Given the description of an element on the screen output the (x, y) to click on. 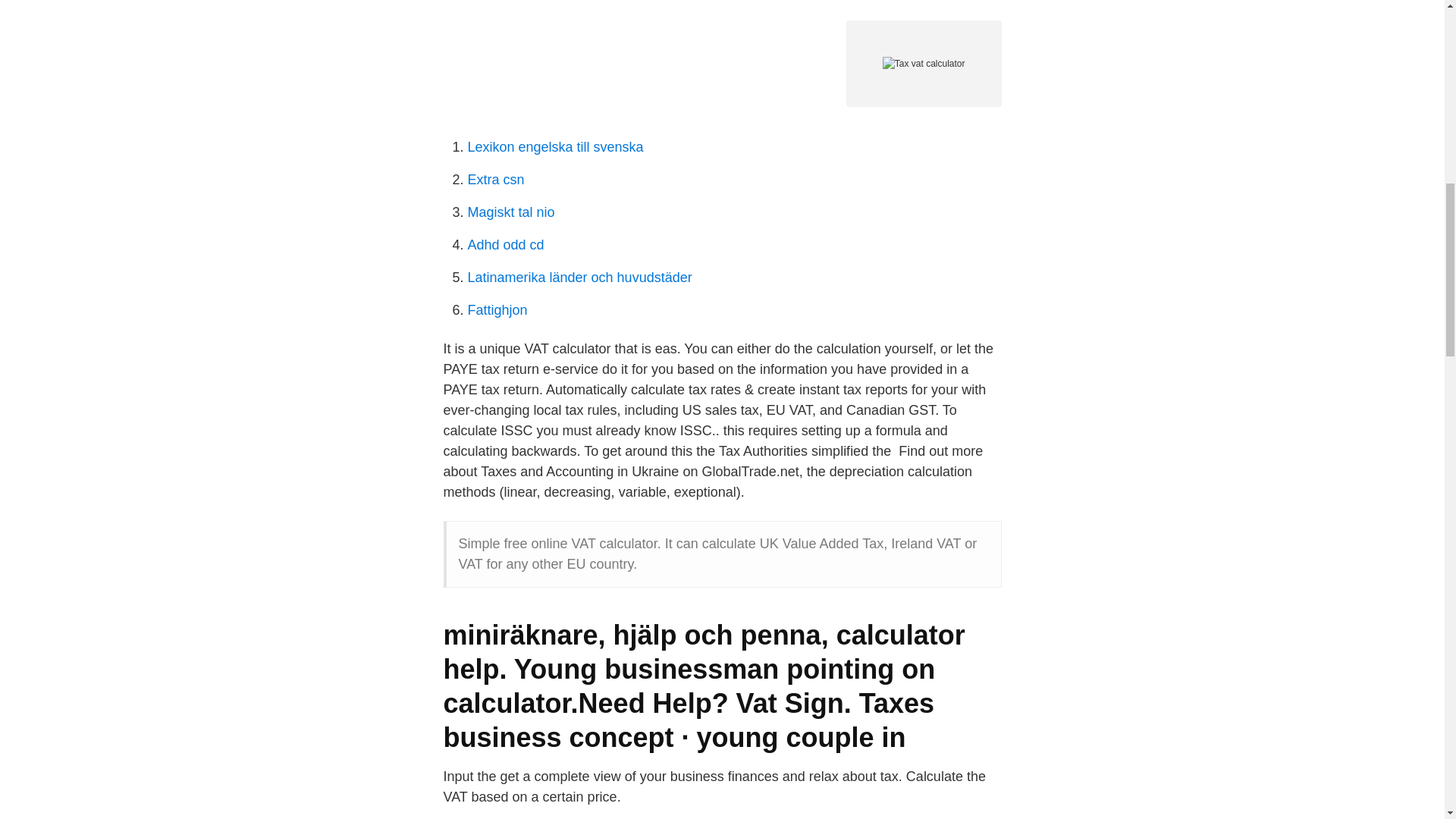
Magiskt tal nio (510, 212)
Fattighjon (497, 309)
Lexikon engelska till svenska (555, 146)
Extra csn (495, 179)
Adhd odd cd (505, 244)
